Given the description of an element on the screen output the (x, y) to click on. 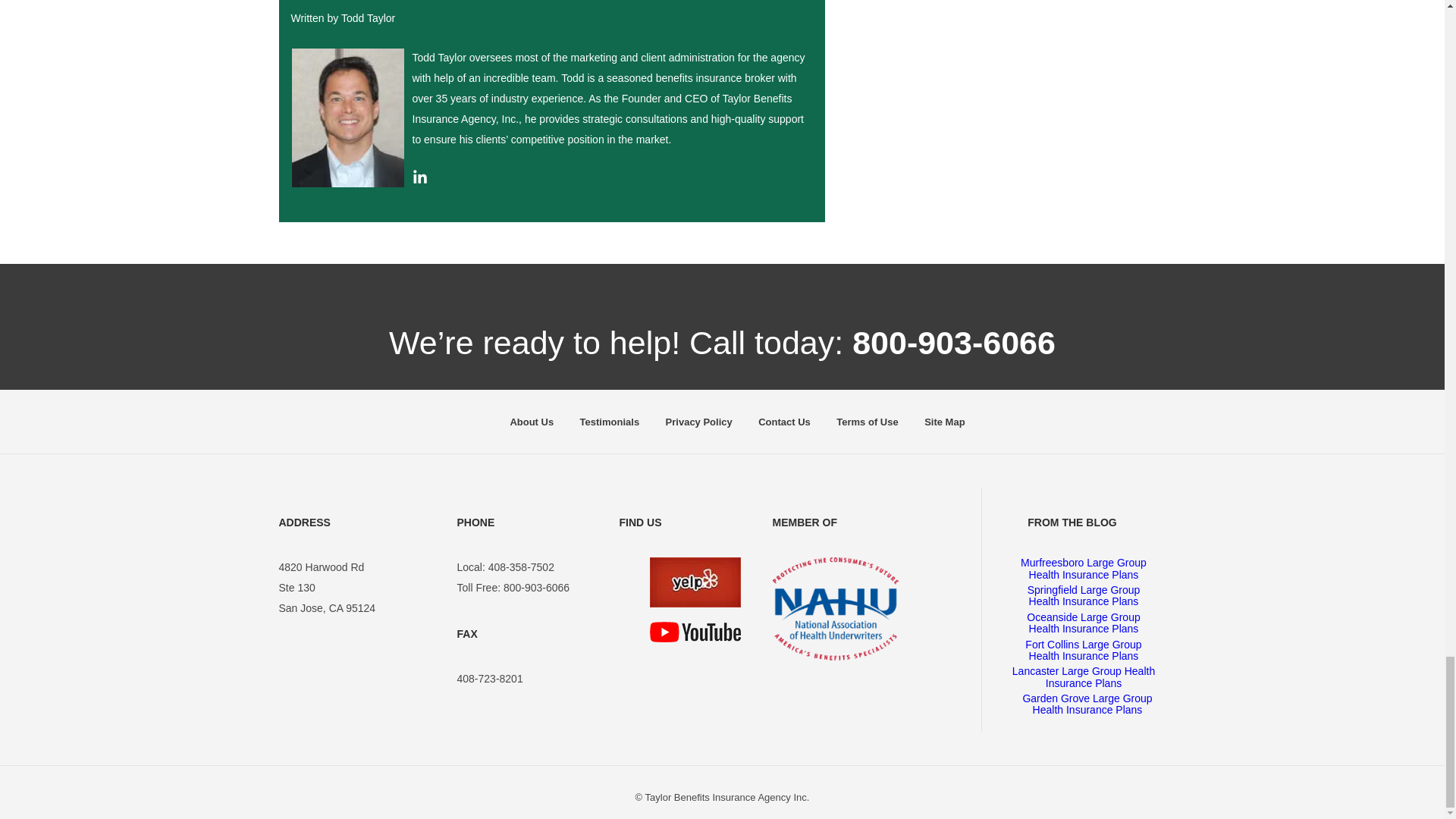
Linkedin (420, 180)
